Given the description of an element on the screen output the (x, y) to click on. 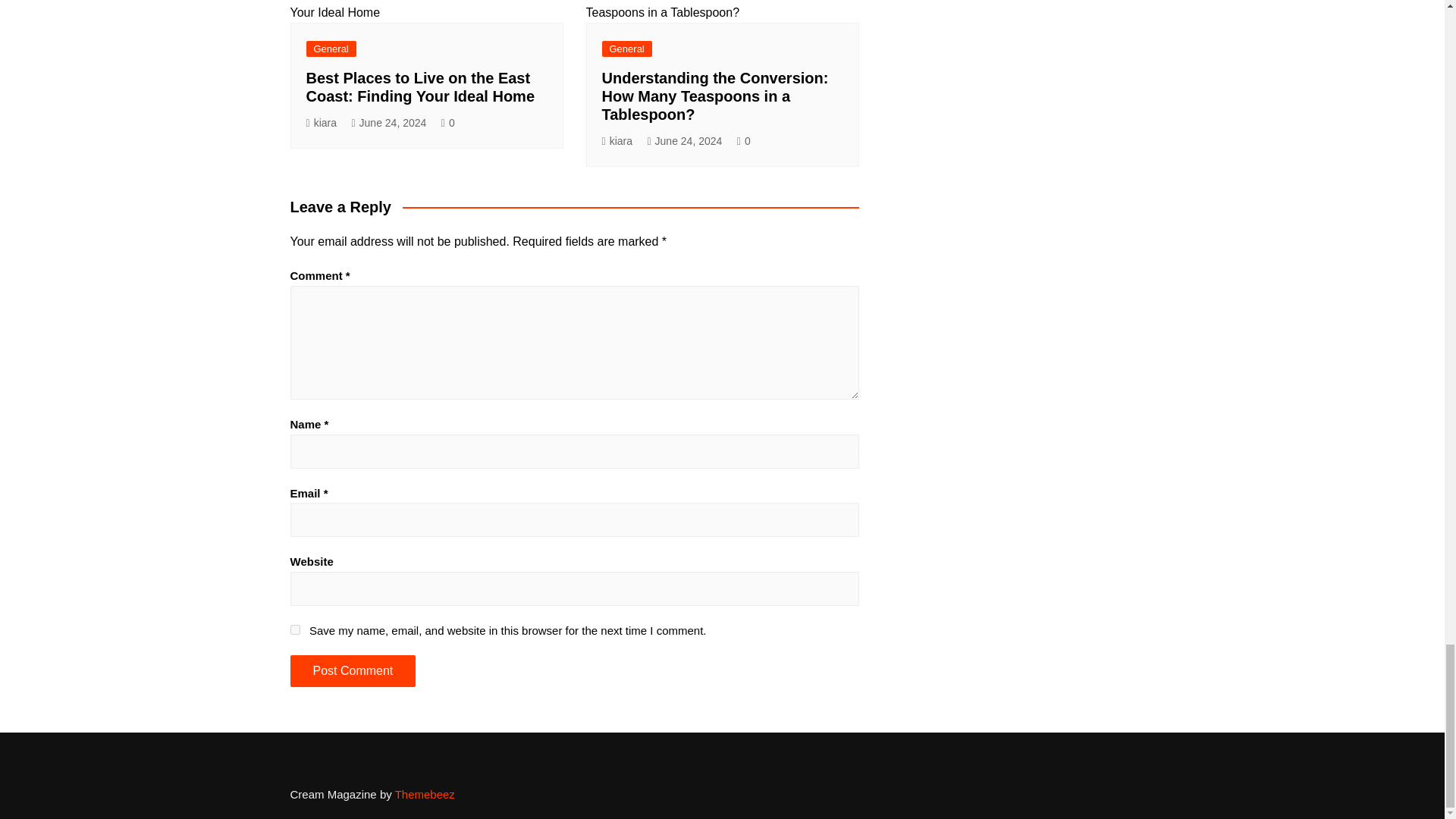
yes (294, 629)
Post Comment (351, 671)
